Given the description of an element on the screen output the (x, y) to click on. 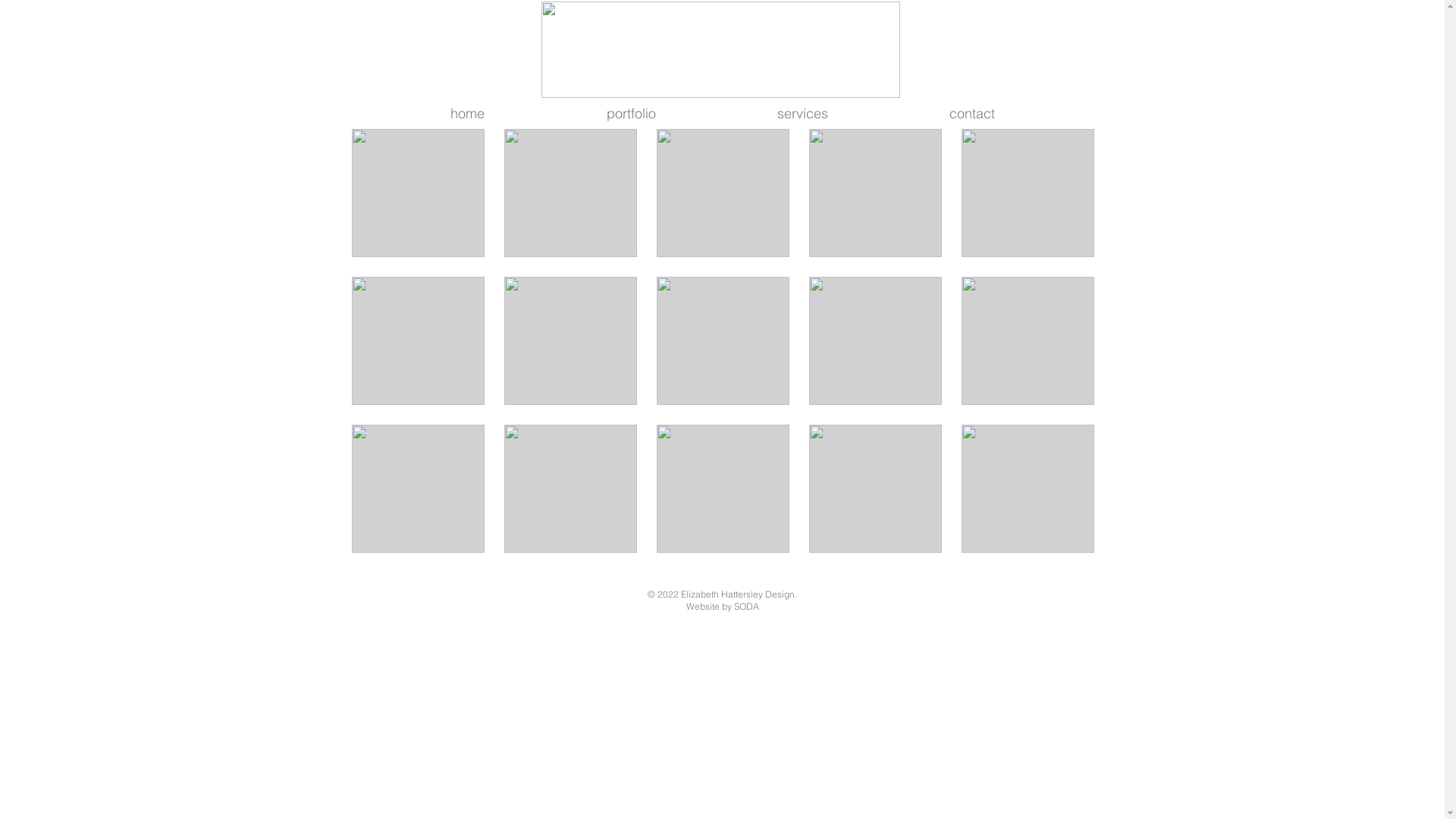
services Element type: text (801, 113)
portfolio Element type: text (631, 113)
home Element type: text (467, 113)
contact Element type: text (971, 113)
